Given the description of an element on the screen output the (x, y) to click on. 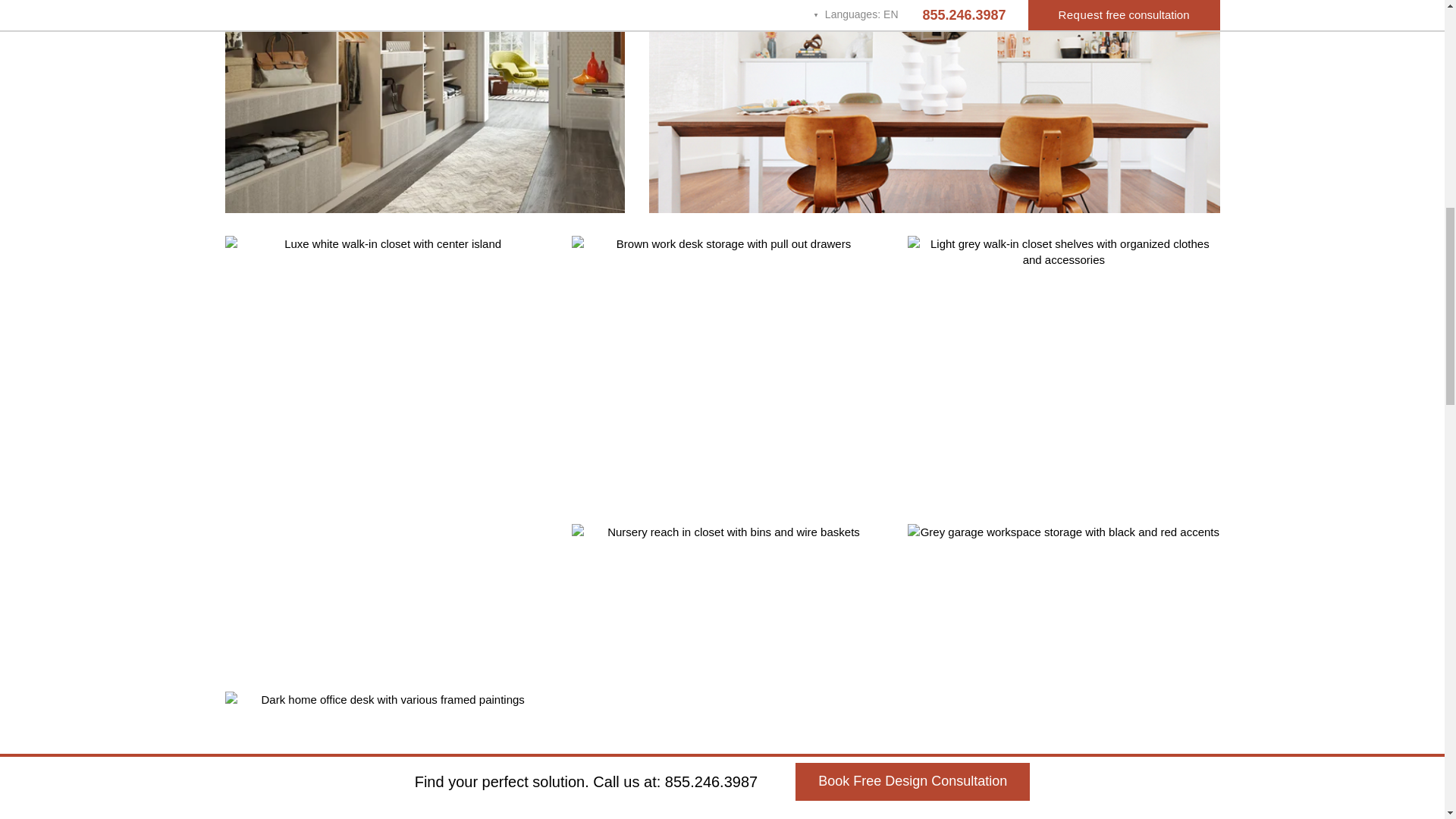
Tan closet shelving with organized clothes and accessories (1063, 368)
Modern Home Office (386, 755)
Luxe pantry storage (934, 106)
Custom Garage storage (1063, 656)
Hallway Reach- In Closet (424, 106)
Sleek home office desk (727, 368)
Reach-in nursery closet (727, 656)
